Given the description of an element on the screen output the (x, y) to click on. 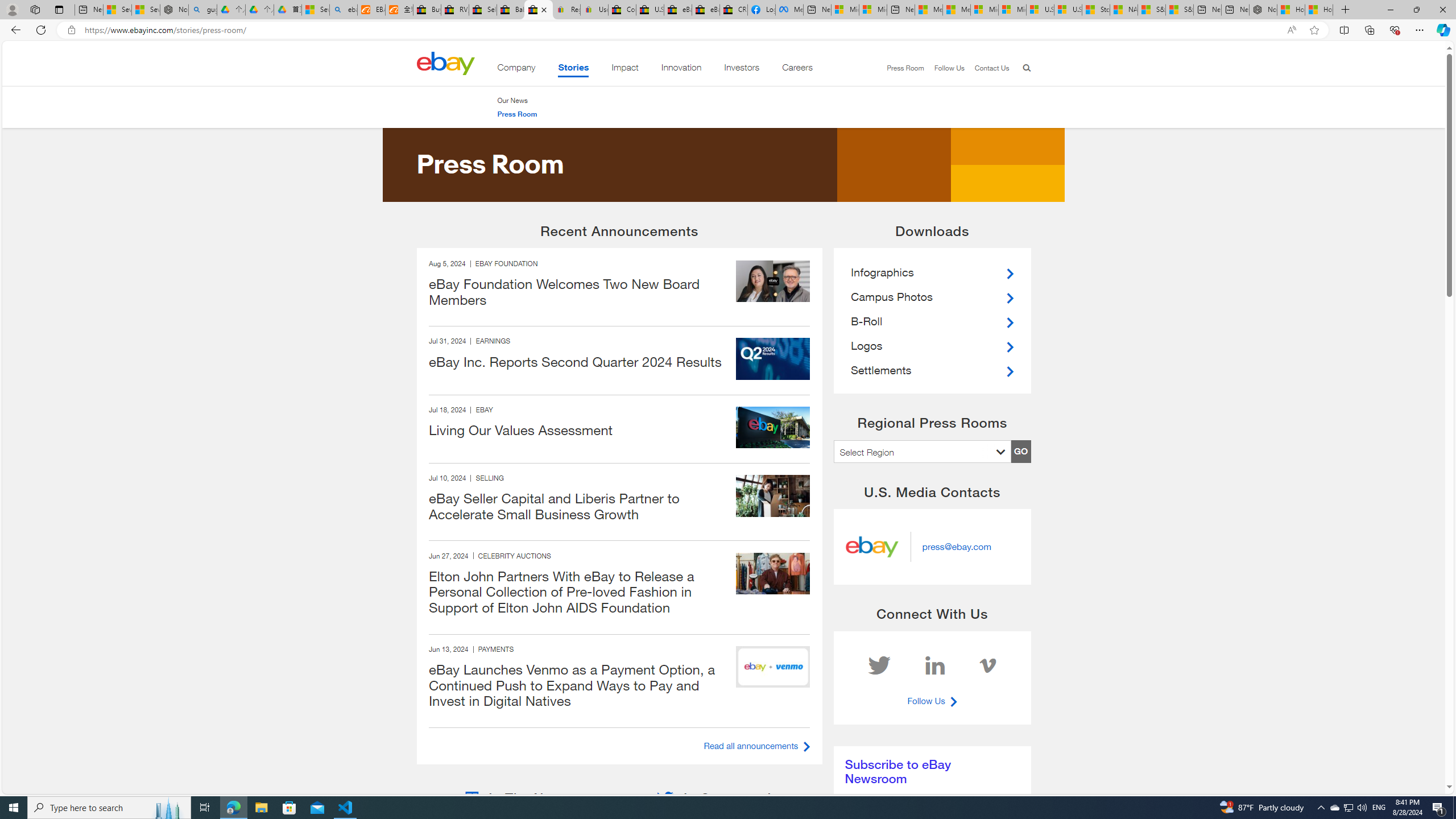
U.S. State Privacy Disclosures - eBay Inc. (649, 9)
Restore (1416, 9)
Split screen (1344, 29)
Settings and more (Alt+F) (1419, 29)
Consumer Health Data Privacy Policy - eBay Inc. (621, 9)
Personal Profile (12, 9)
Follow Us (948, 67)
Baby Keepsakes & Announcements for sale | eBay (510, 9)
Company (515, 69)
Close tab (543, 9)
Minimize (1390, 9)
How to Use a Monitor With Your Closed Laptop (1319, 9)
Careers (796, 69)
